Given the description of an element on the screen output the (x, y) to click on. 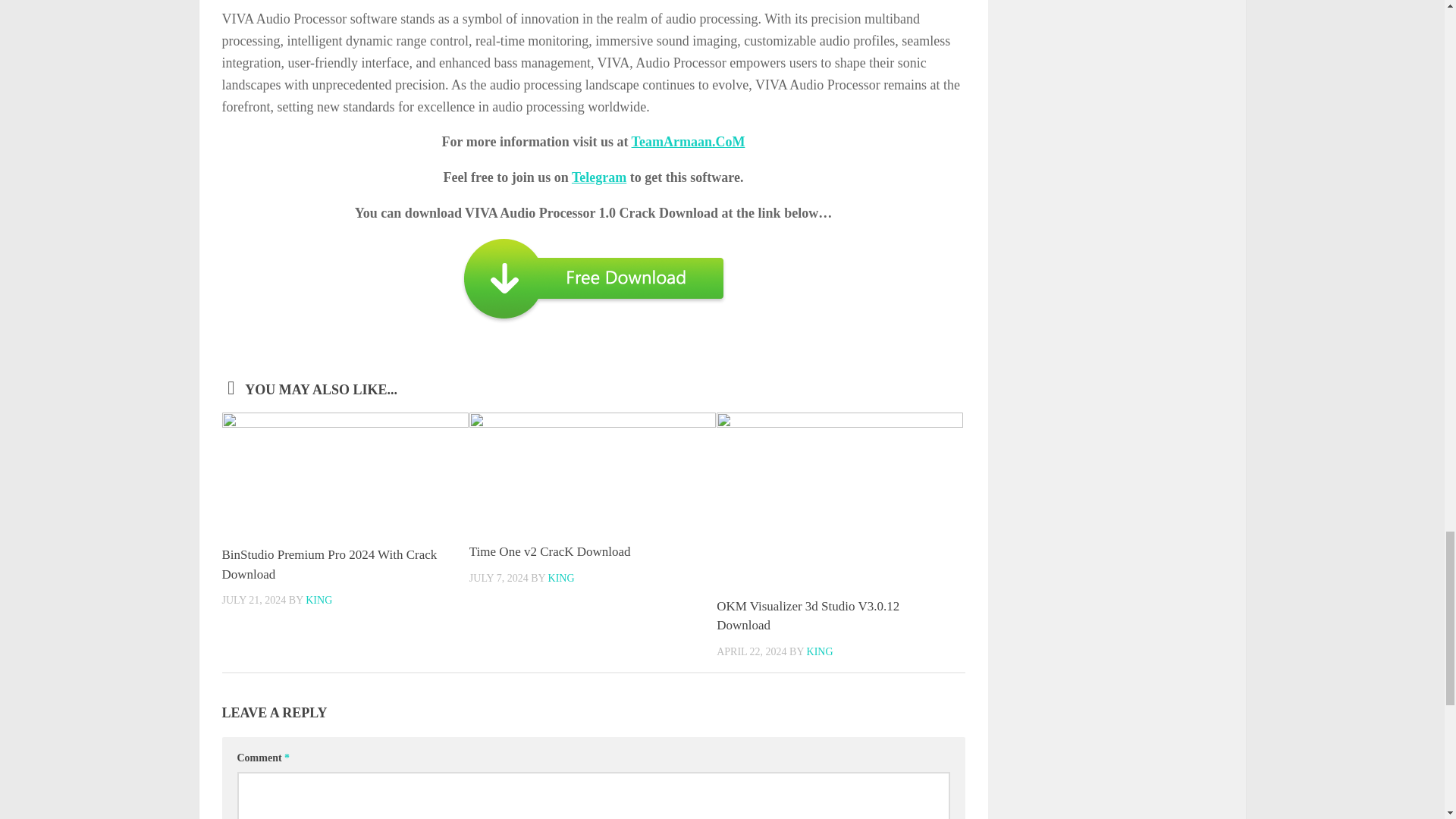
Posts by King (318, 600)
